Given the description of an element on the screen output the (x, y) to click on. 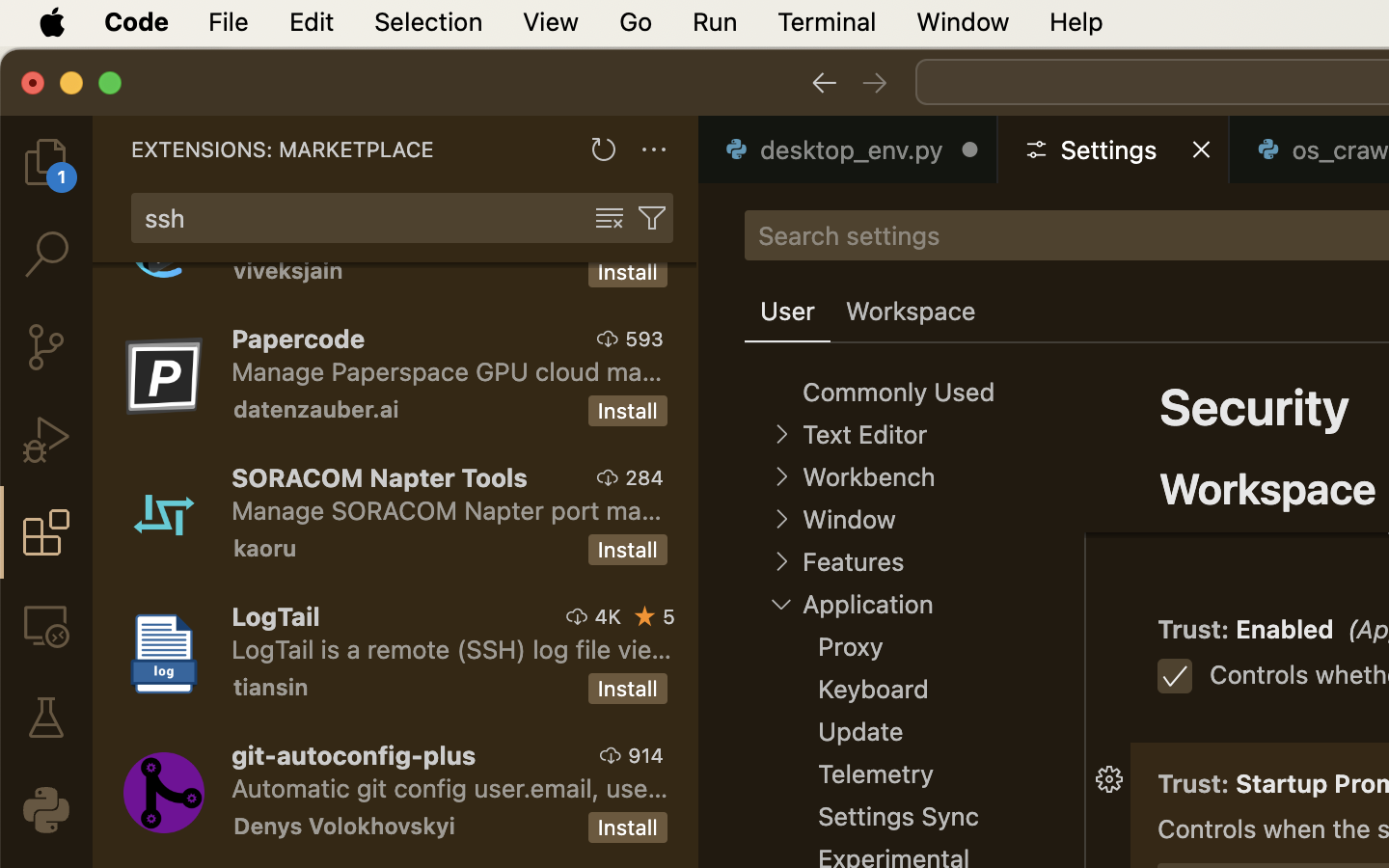
0  Element type: AXRadioButton (46, 346)
4K Element type: AXStaticText (607, 615)
Trust: Element type: AXStaticText (1196, 440)
